Given the description of an element on the screen output the (x, y) to click on. 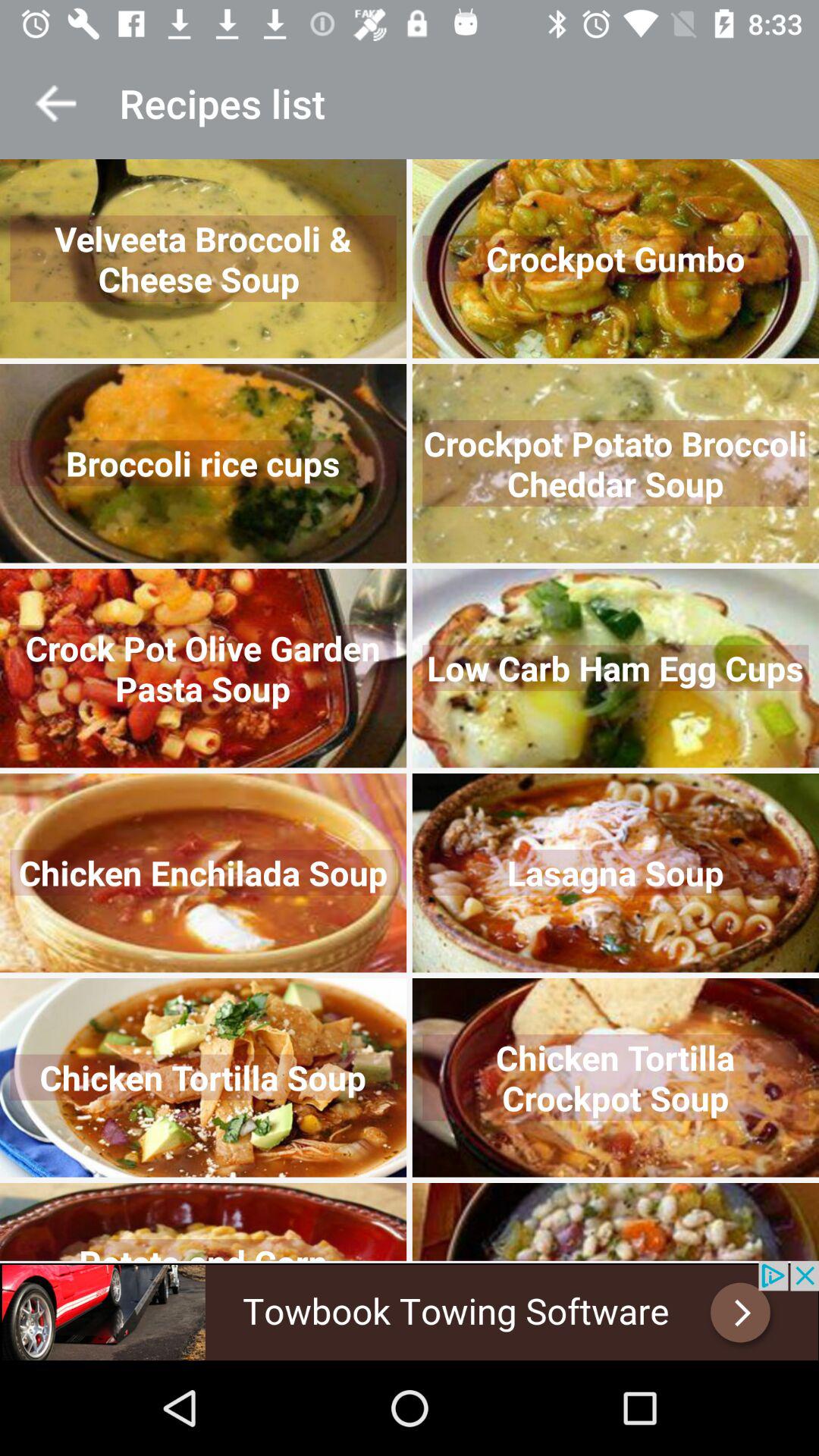
go back (55, 103)
